Given the description of an element on the screen output the (x, y) to click on. 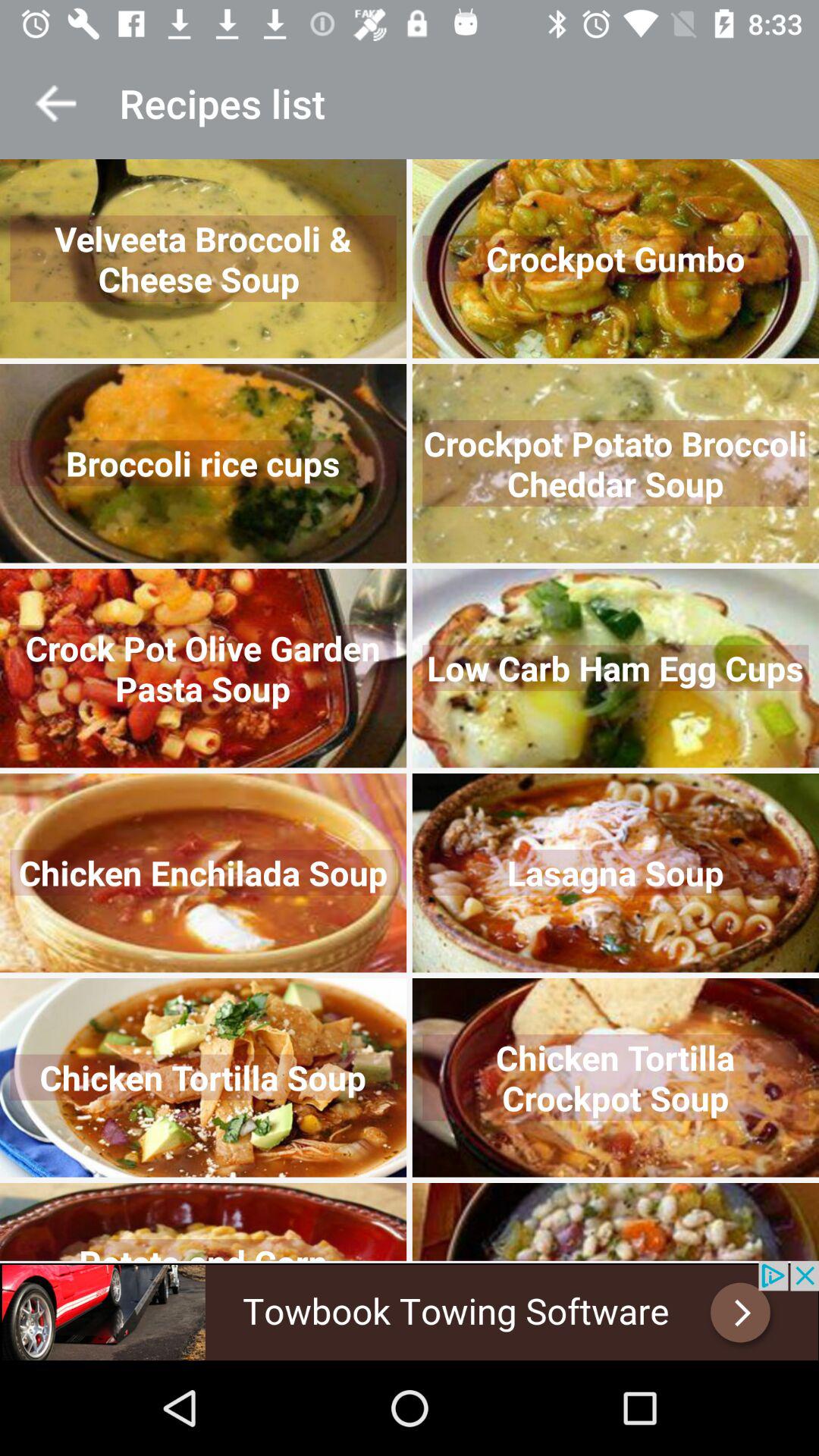
go back (55, 103)
